Given the description of an element on the screen output the (x, y) to click on. 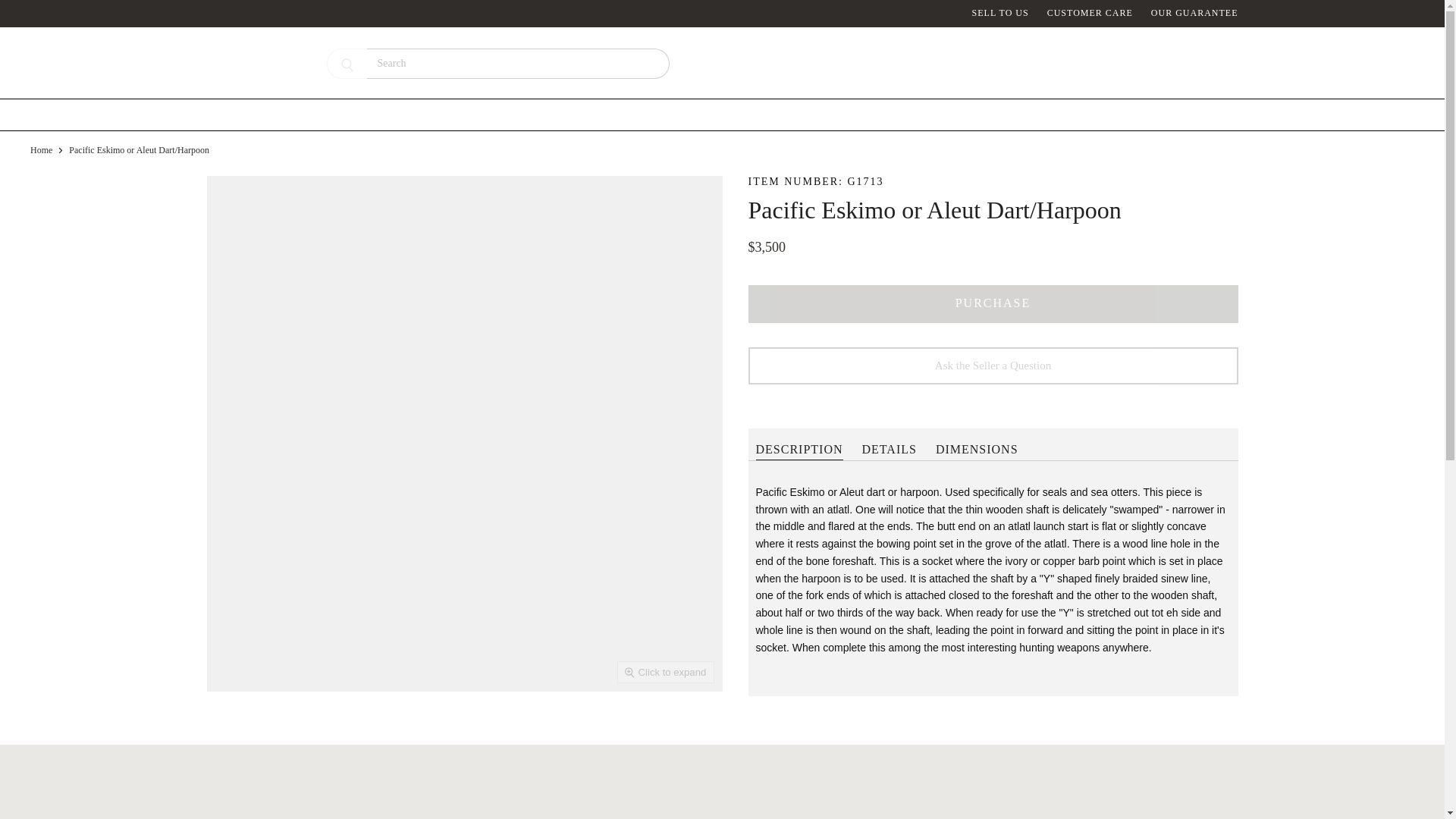
OUR GUARANTEE (1195, 13)
CUSTOMER CARE (1089, 13)
SELL TO US (1000, 13)
